Given the description of an element on the screen output the (x, y) to click on. 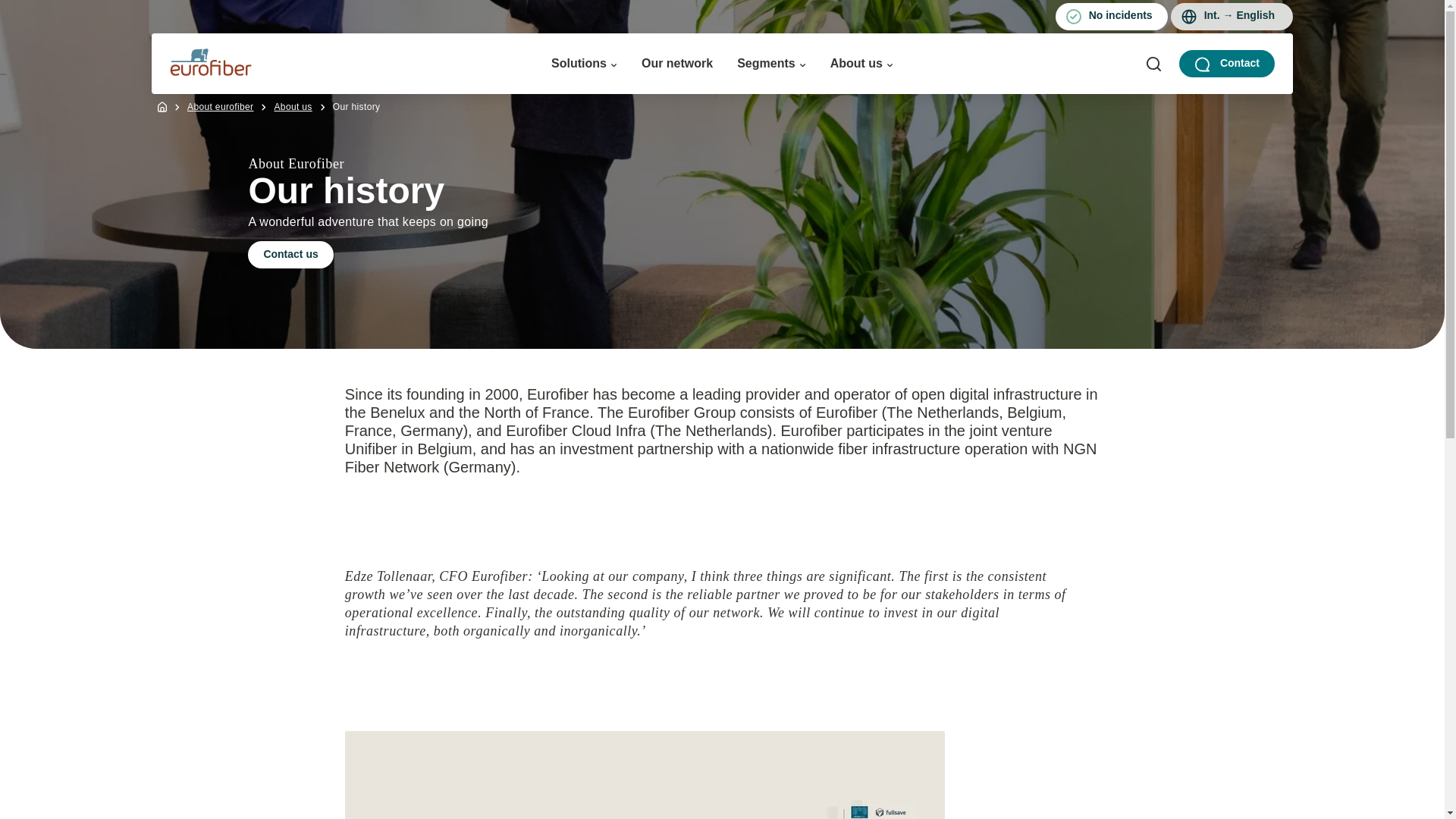
Segments (770, 63)
Our network (677, 63)
Solutions (584, 63)
No incidents (1111, 16)
Contact (1227, 62)
About us (861, 63)
